Given the description of an element on the screen output the (x, y) to click on. 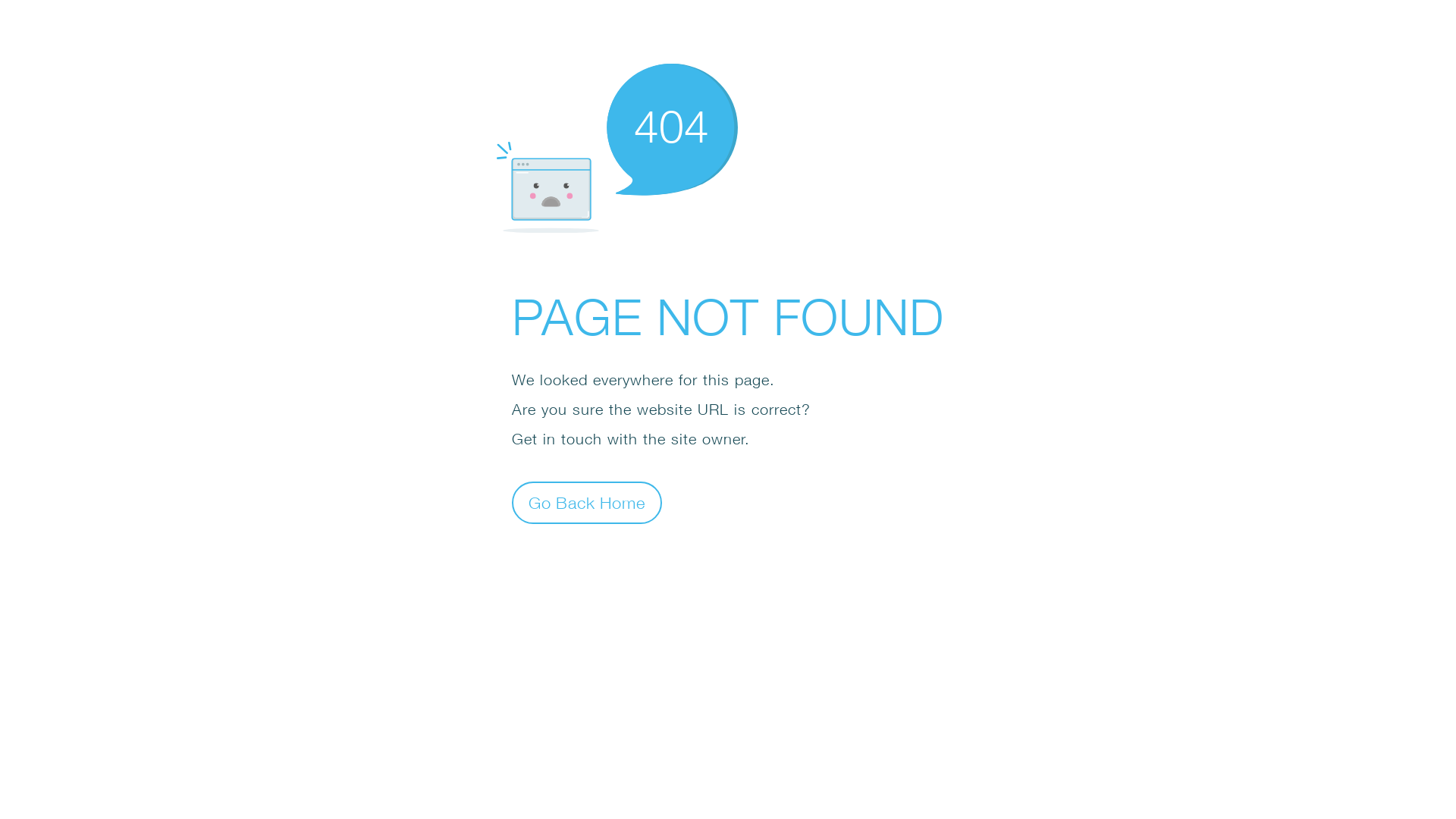
Go Back Home Element type: text (586, 502)
